Given the description of an element on the screen output the (x, y) to click on. 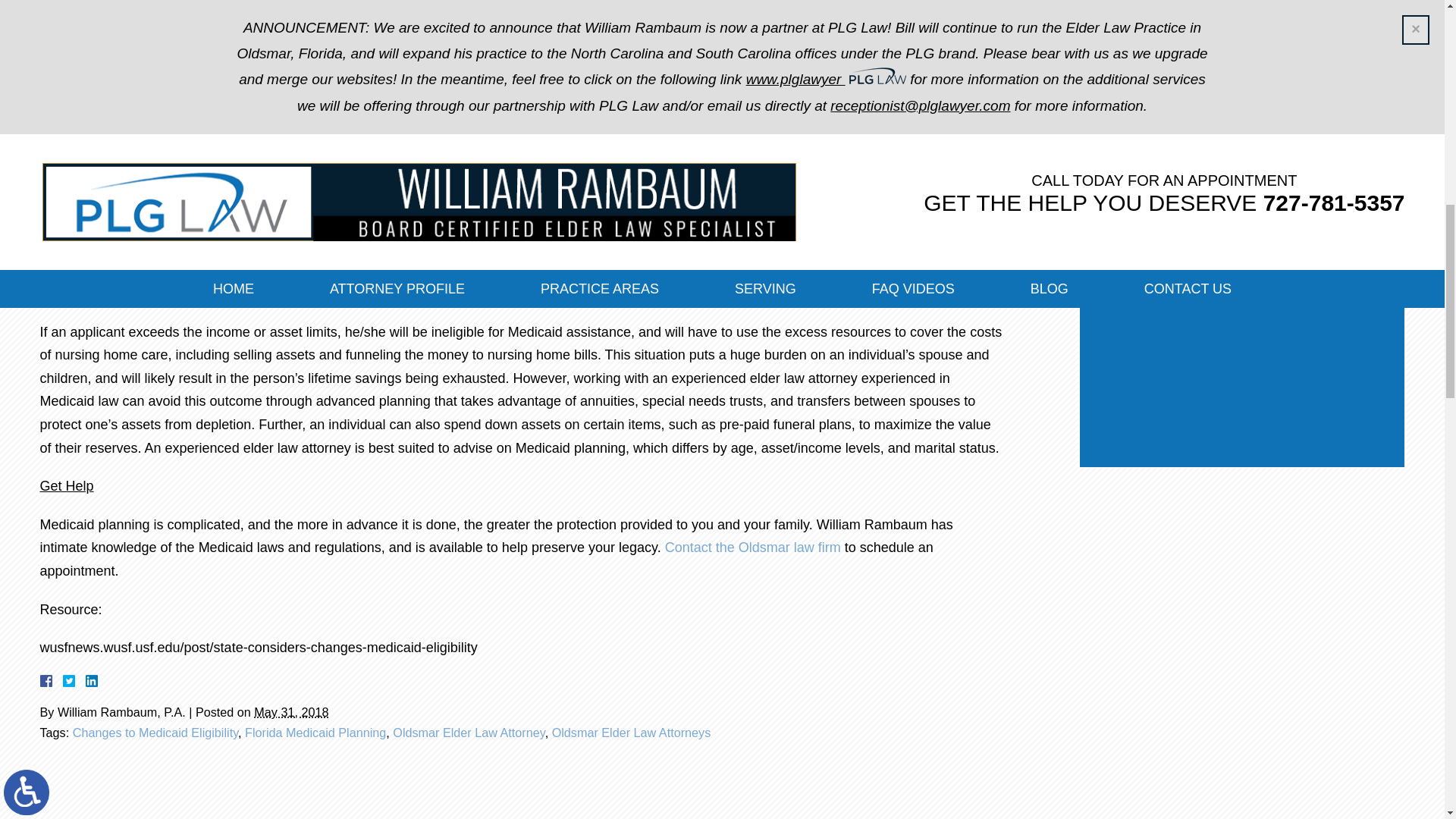
Changes to Medicaid Eligibility (155, 732)
2018-05-31T06:33:25-0700 (291, 712)
Contact the Oldsmar law firm (753, 547)
